Given the description of an element on the screen output the (x, y) to click on. 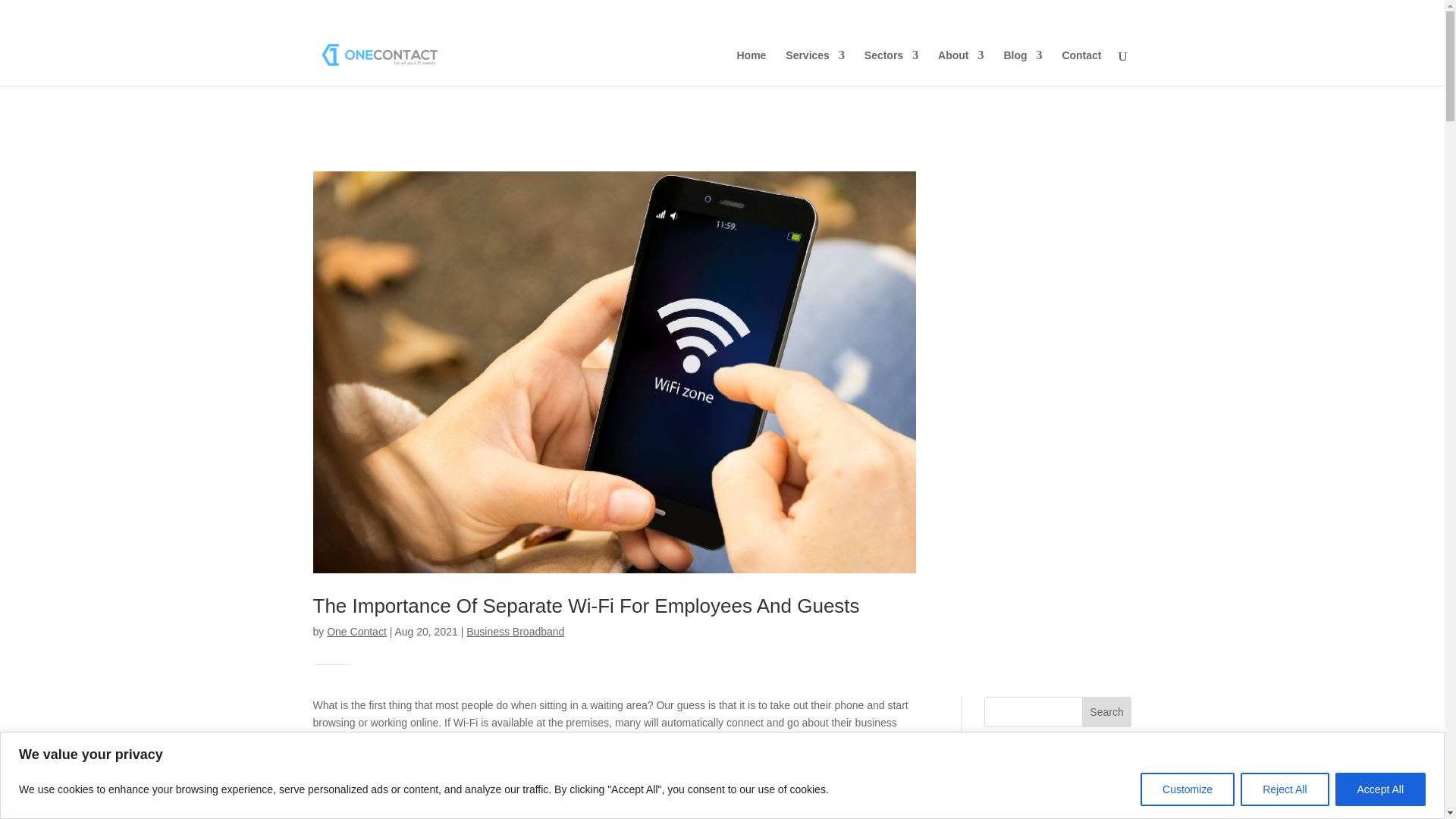
Accept All (1380, 788)
Customize (1187, 788)
Sectors (891, 67)
About (960, 67)
Search (1106, 711)
Contact (1080, 67)
Services (815, 67)
Posts by One Contact (356, 631)
Call Now: 01 906 0990 (1080, 14)
Blog (1022, 67)
Reject All (1283, 788)
